Given the description of an element on the screen output the (x, y) to click on. 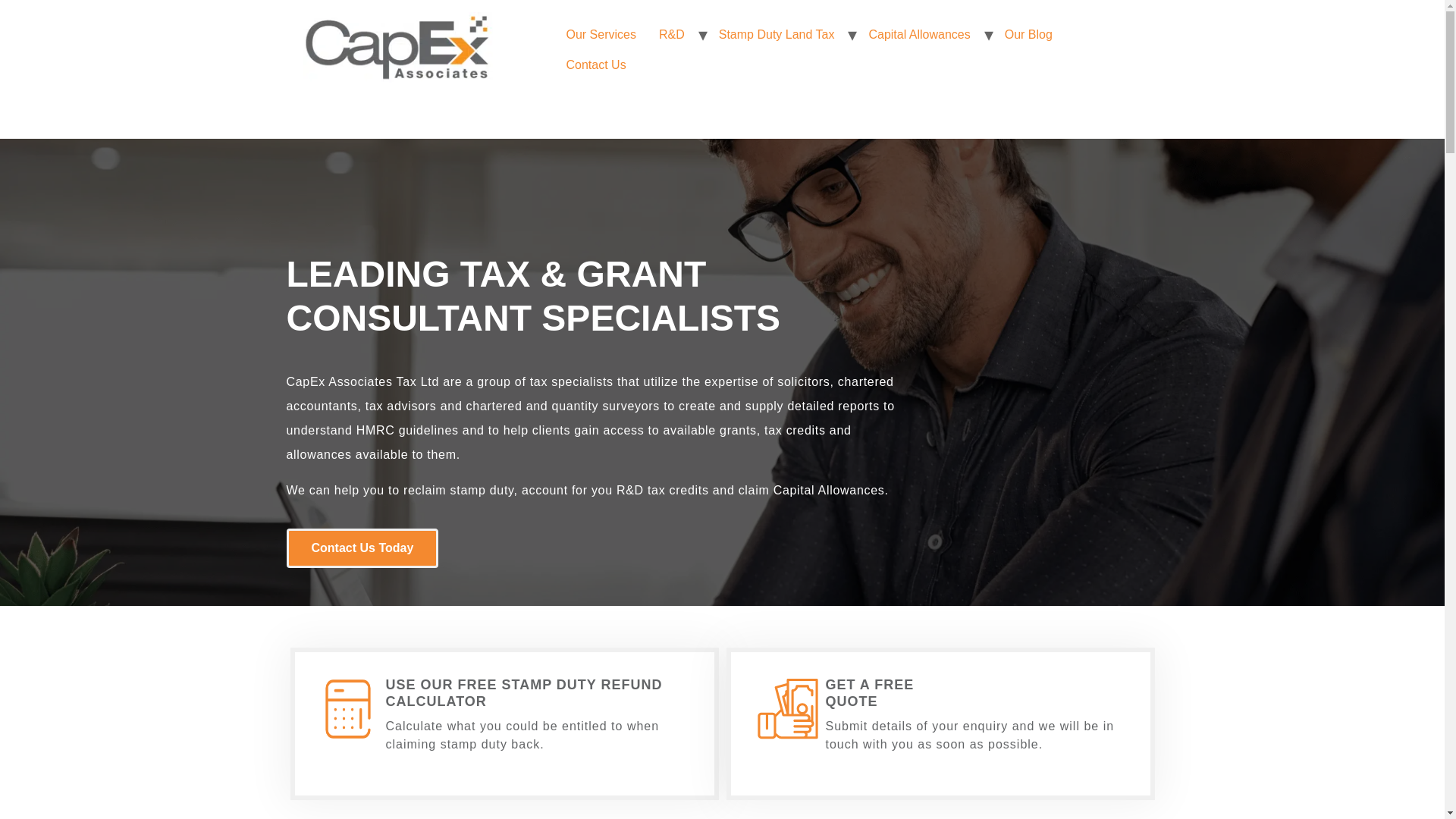
Capital Allowances (919, 34)
Contact Us Today (313, 548)
Our Blog (1028, 34)
Stamp Duty Land Tax (776, 34)
USE OUR FREE STAMP DUTY REFUND CALCULATOR (523, 693)
Our Services (600, 34)
Contact Us (595, 64)
